Given the description of an element on the screen output the (x, y) to click on. 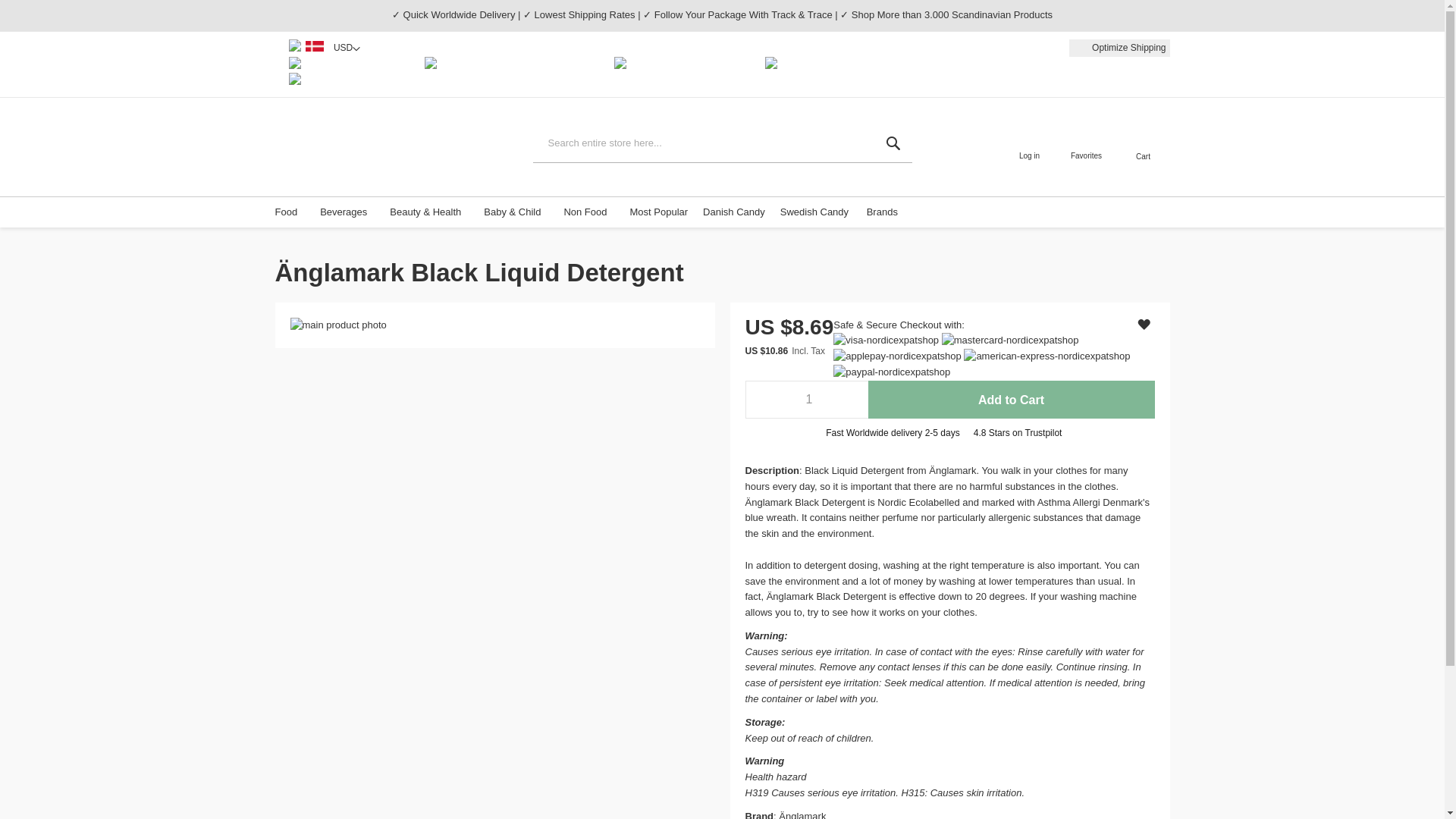
Food (289, 212)
1 (805, 399)
My Cart (1143, 140)
Qty (805, 399)
Favorites (1086, 147)
Log in (1029, 147)
Add to Cart (1010, 399)
Brands (885, 212)
